Given the description of an element on the screen output the (x, y) to click on. 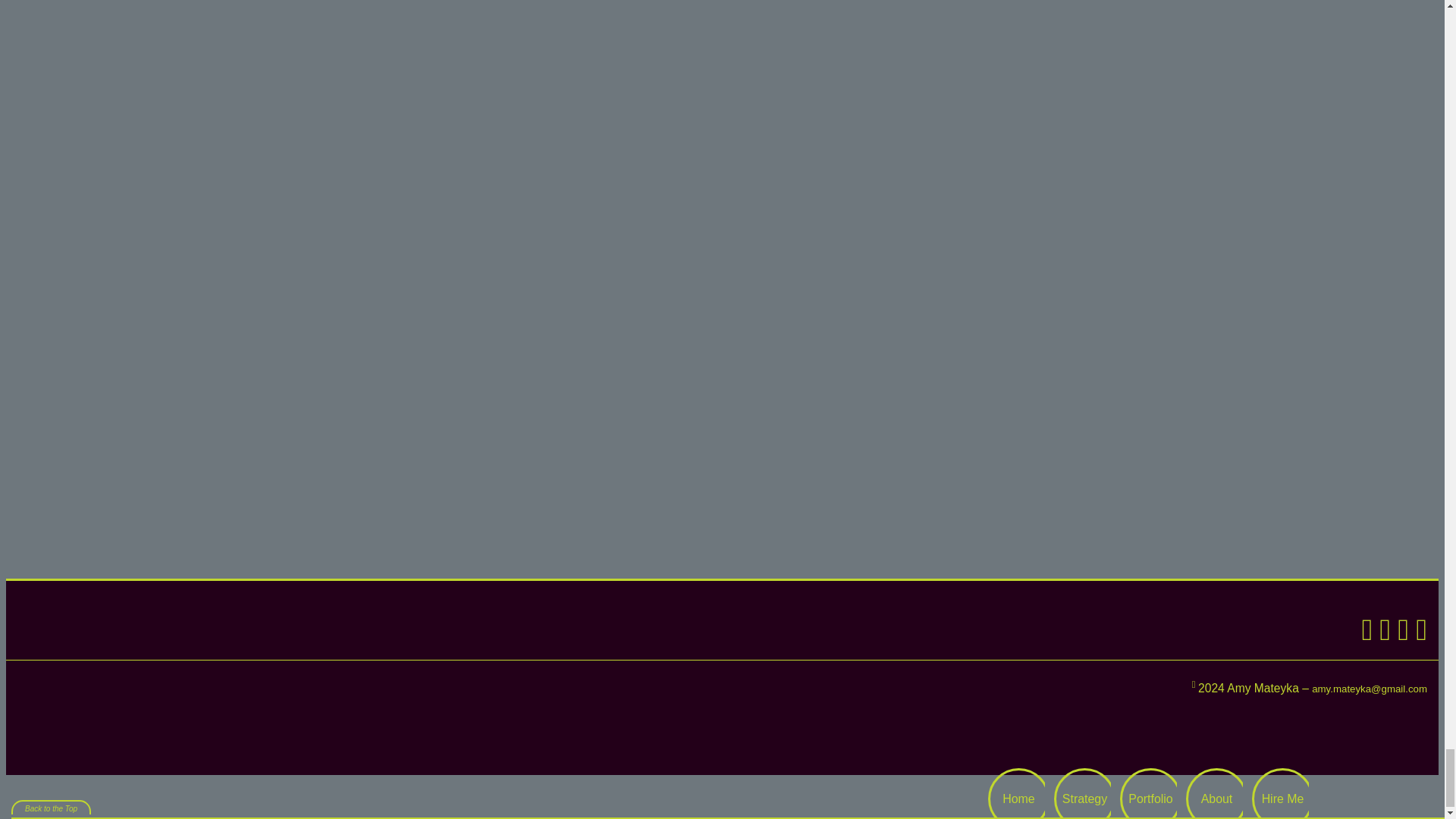
Like Me on Facebook (1381, 634)
Pin It (1417, 634)
View My Linked-In (1363, 634)
See My Work on YouTube (1399, 634)
